Given the description of an element on the screen output the (x, y) to click on. 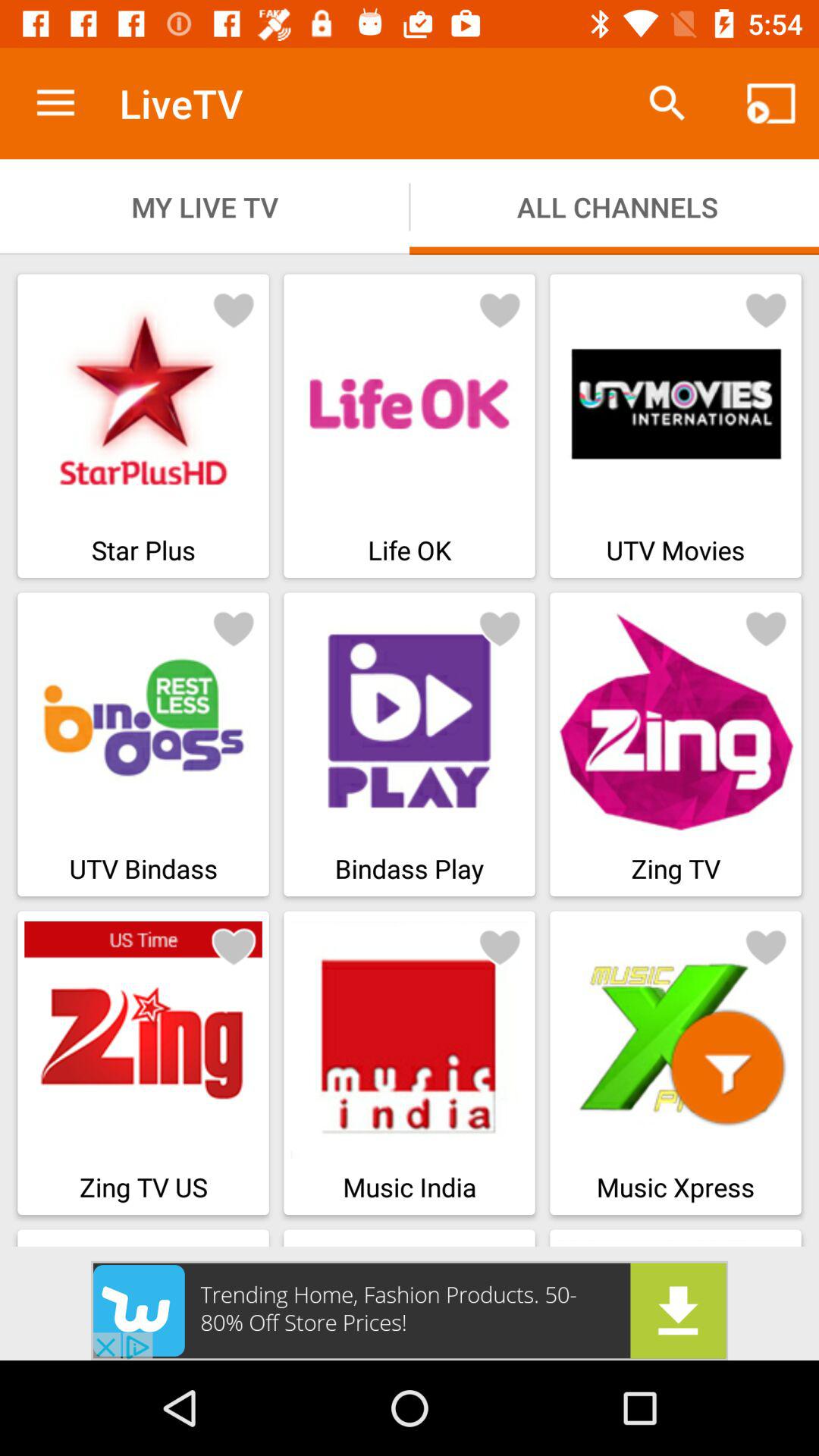
like the option (766, 627)
